Given the description of an element on the screen output the (x, y) to click on. 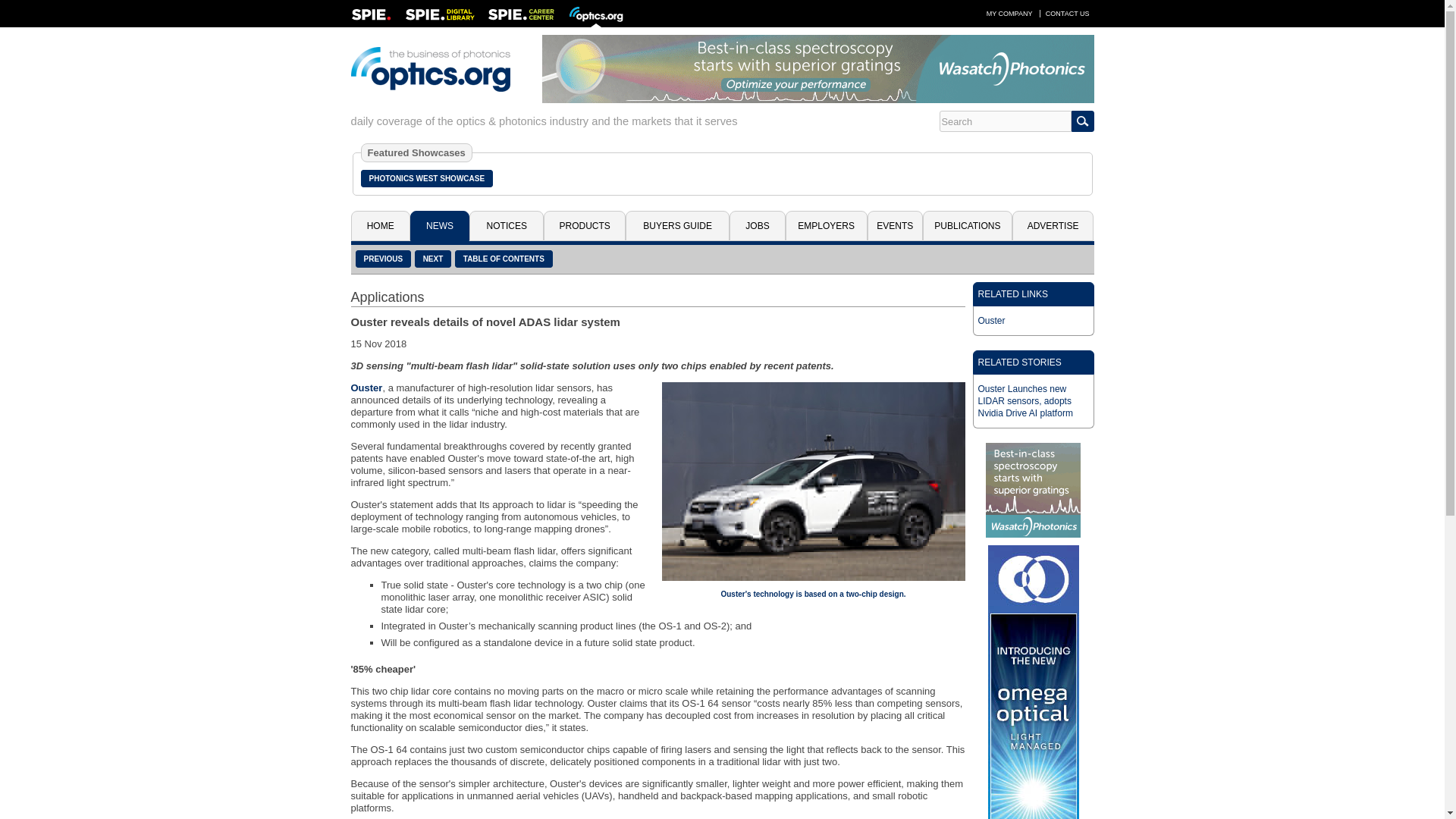
Search (1004, 120)
BUYERS GUIDE (677, 225)
NOTICES (505, 225)
CONTACT US (1067, 13)
Ouster's technology is based on a two-chip design. (812, 481)
HOME (379, 225)
NEWS (439, 225)
Ouster's technology is based on a two-chip design. (812, 593)
PRODUCTS (584, 225)
JOBS (757, 225)
